Given the description of an element on the screen output the (x, y) to click on. 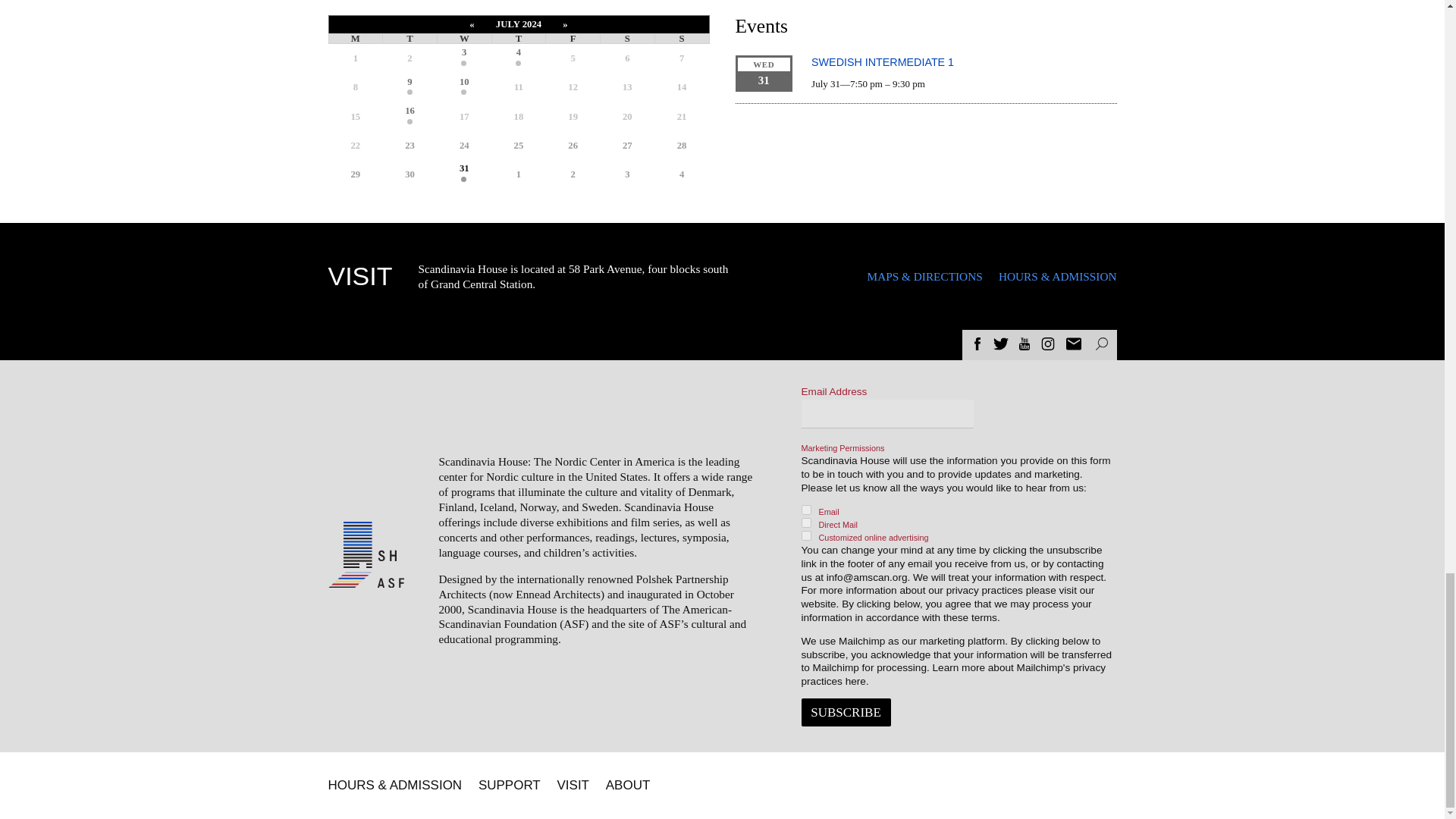
YouTube (1023, 343)
Y (805, 522)
Twitter (1000, 343)
Newsletter (1073, 343)
Subscribe (844, 712)
Logo - Scandinavia House (369, 544)
Y (805, 535)
Facebook (976, 343)
Logo - American Scandinavian Foundation (365, 579)
Instagram (1048, 343)
Search (1100, 343)
Y (805, 510)
